Given the description of an element on the screen output the (x, y) to click on. 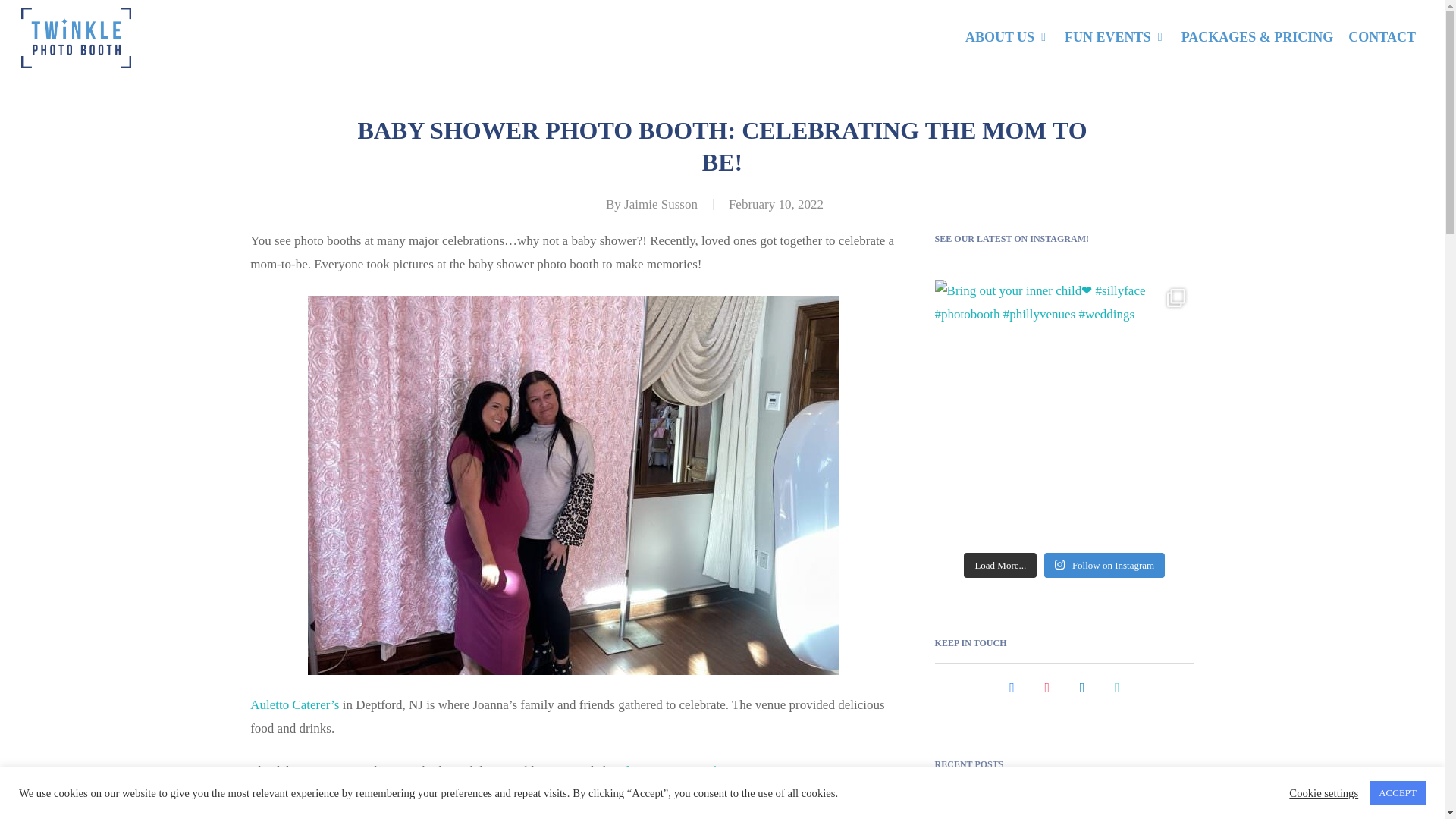
Jaimie Susson (660, 204)
Posts by Jaimie Susson (660, 204)
CONTACT (1381, 36)
ABOUT US (1007, 36)
Instagram (1046, 687)
FUN EVENTS (1115, 36)
Platinum House of Sweets! (689, 770)
